Given the description of an element on the screen output the (x, y) to click on. 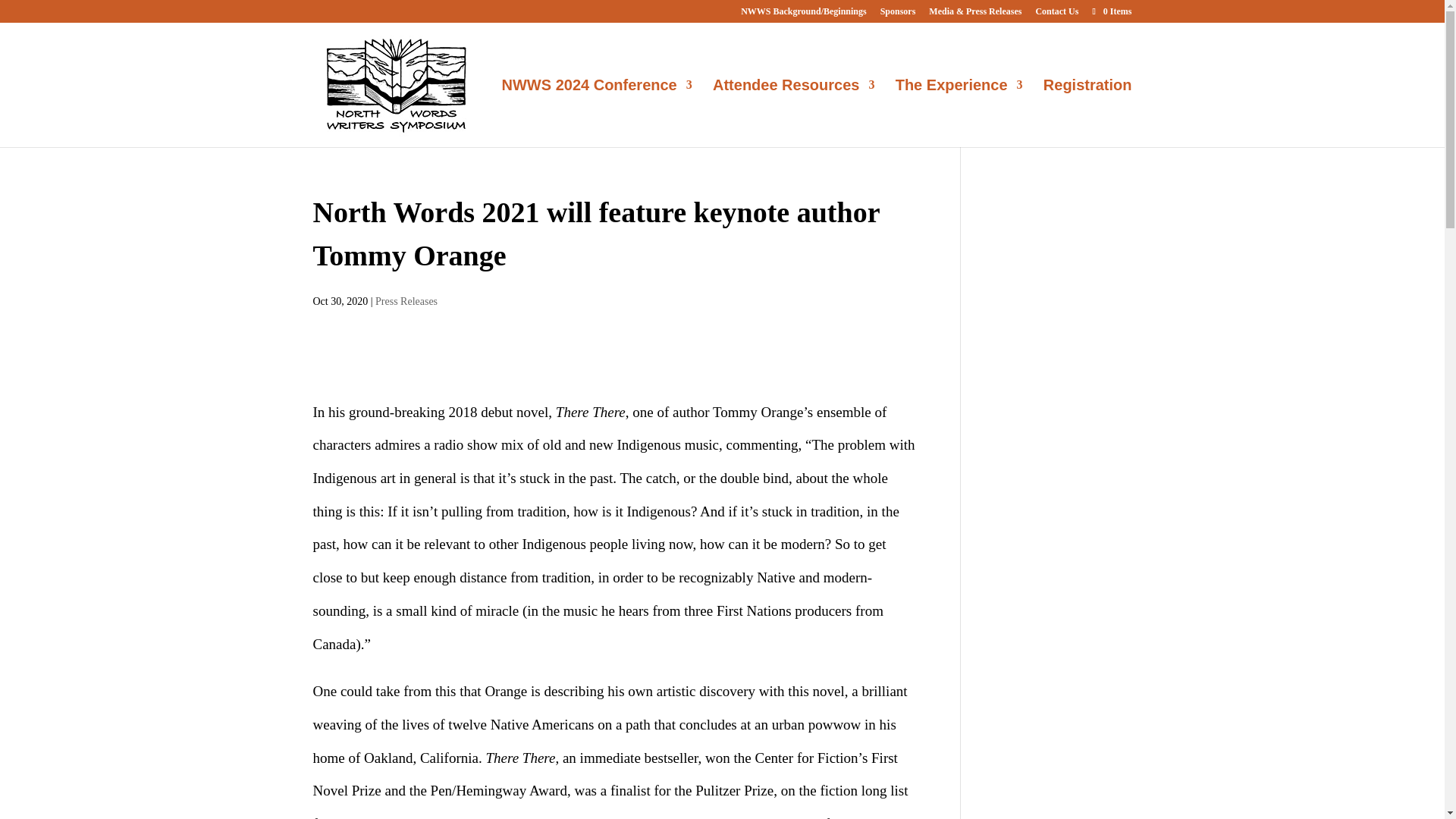
Sponsors (897, 14)
Contact Us (1056, 14)
0 Items (1110, 10)
Attendee Resources (794, 113)
NWWS 2024 Conference (597, 113)
Registration (1087, 113)
The Experience (959, 113)
